Given the description of an element on the screen output the (x, y) to click on. 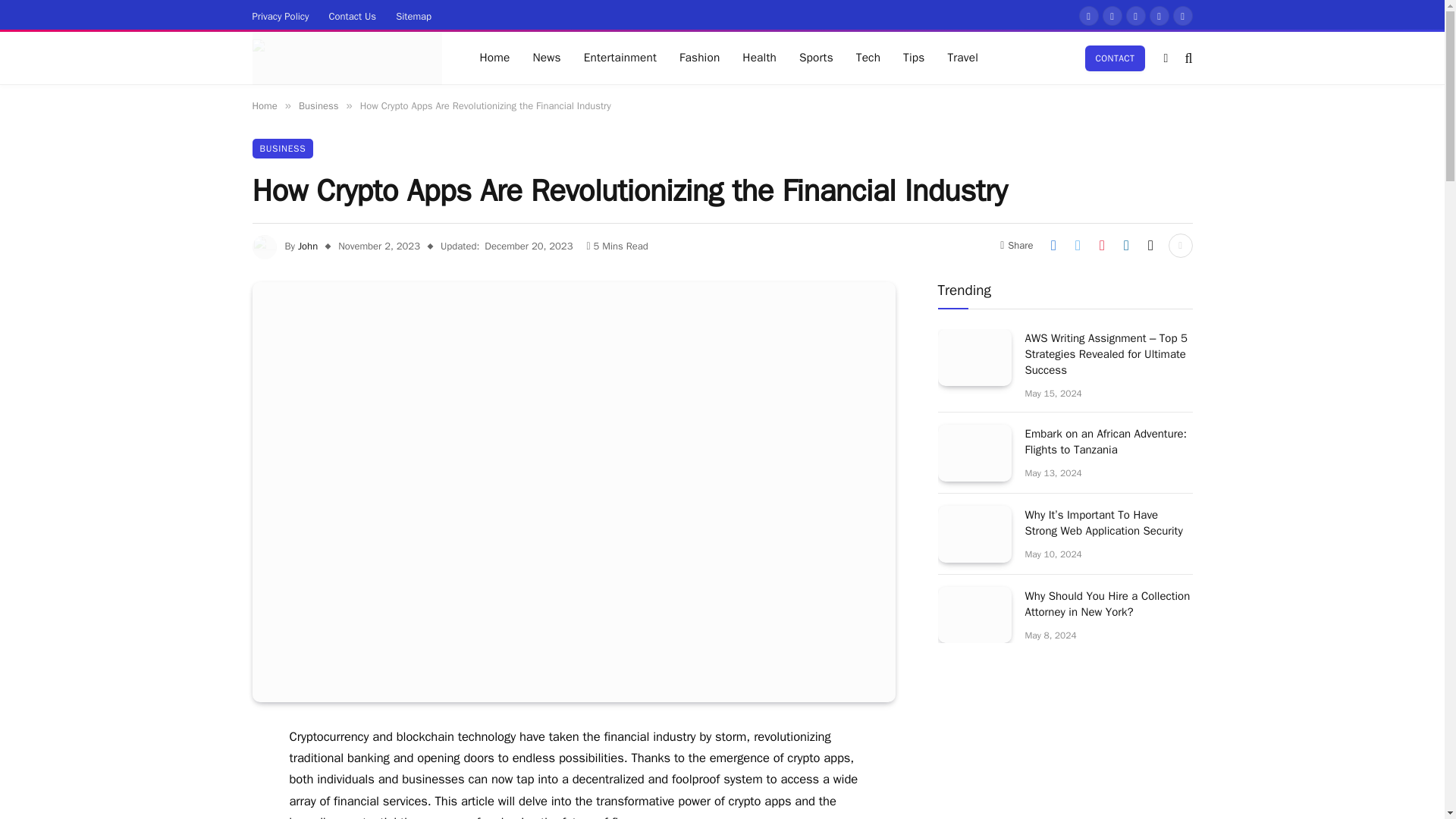
Instagram (1134, 15)
Share on Facebook (1053, 245)
Sports (815, 57)
Switch to Dark Design - easier on eyes. (1165, 57)
Health (758, 57)
CONTACT (1114, 58)
Home (263, 105)
Privacy Policy (280, 15)
Travel (963, 57)
News (546, 57)
